Given the description of an element on the screen output the (x, y) to click on. 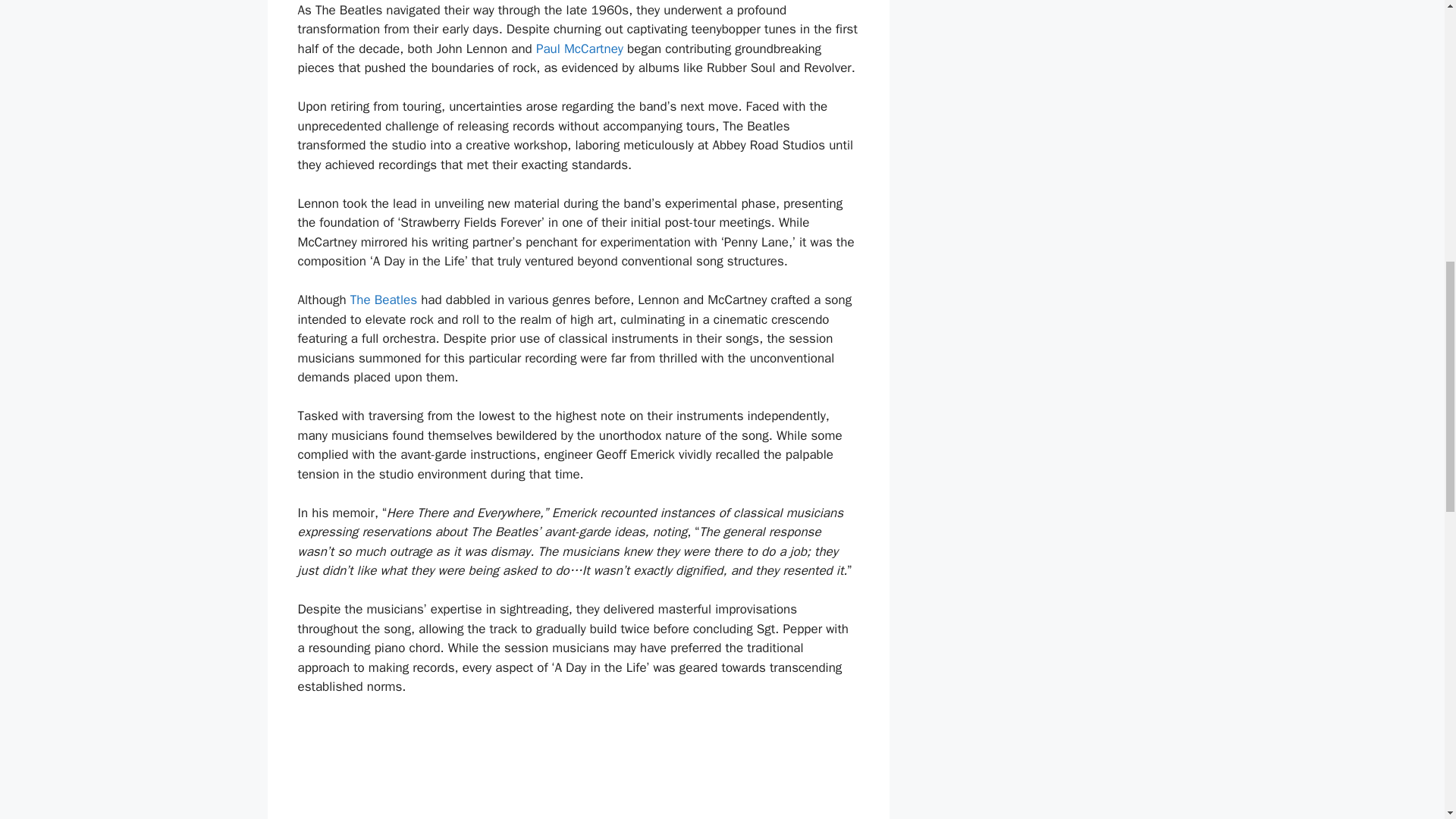
The Beatles (383, 299)
The Beatles - A Day In The Life (578, 767)
Paul McCartney (579, 48)
